Given the description of an element on the screen output the (x, y) to click on. 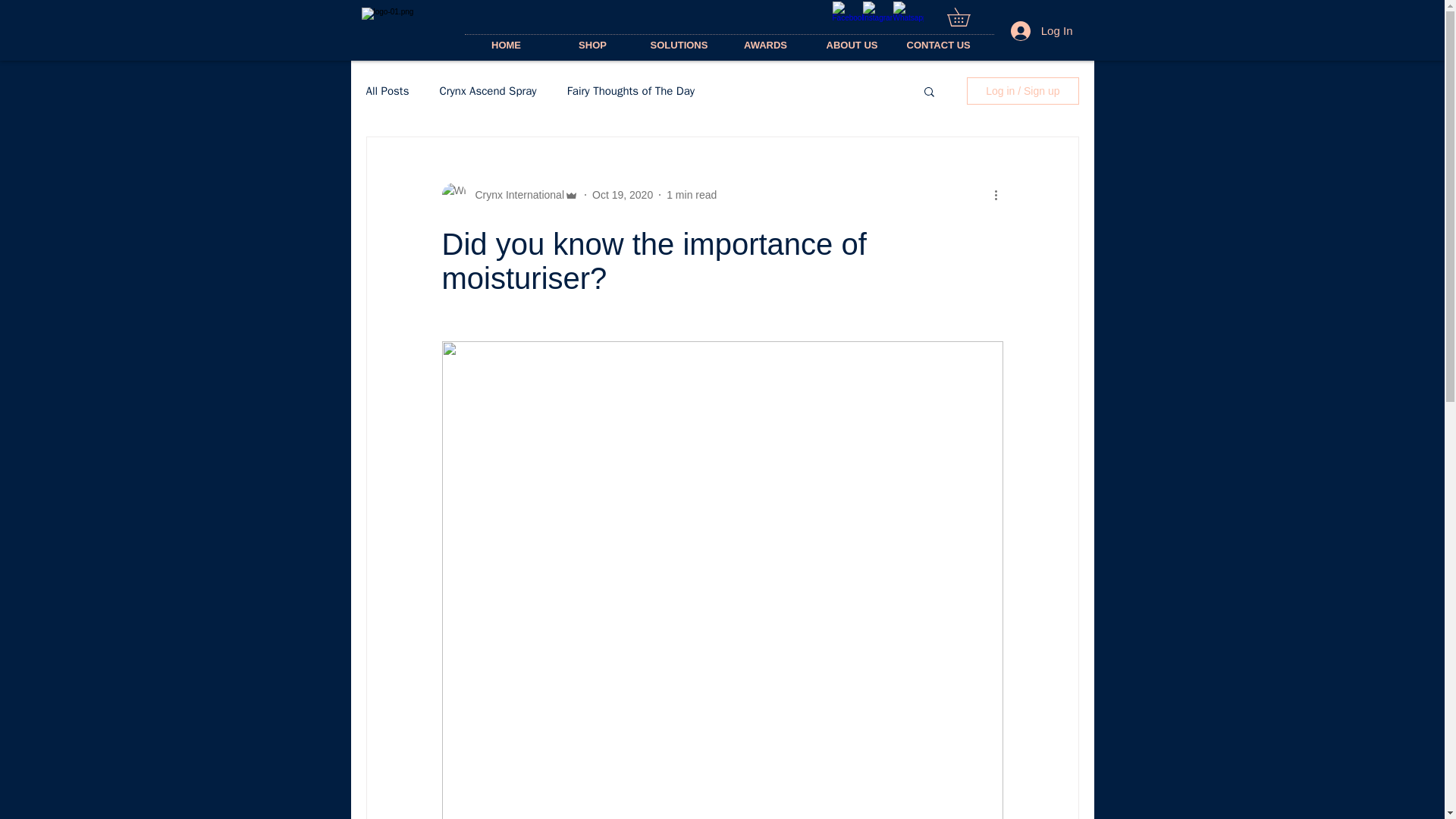
1 min read (691, 193)
CONTACT US (938, 44)
Oct 19, 2020 (622, 193)
AWARDS (765, 44)
Log In (1041, 30)
Crynx International (509, 194)
HOME (505, 44)
ABOUT US (851, 44)
Fairy Thoughts of The Day (630, 90)
Crynx Ascend Spray (487, 90)
Crynx International (514, 194)
All Posts (387, 90)
SHOP (591, 44)
SOLUTIONS (678, 44)
